Given the description of an element on the screen output the (x, y) to click on. 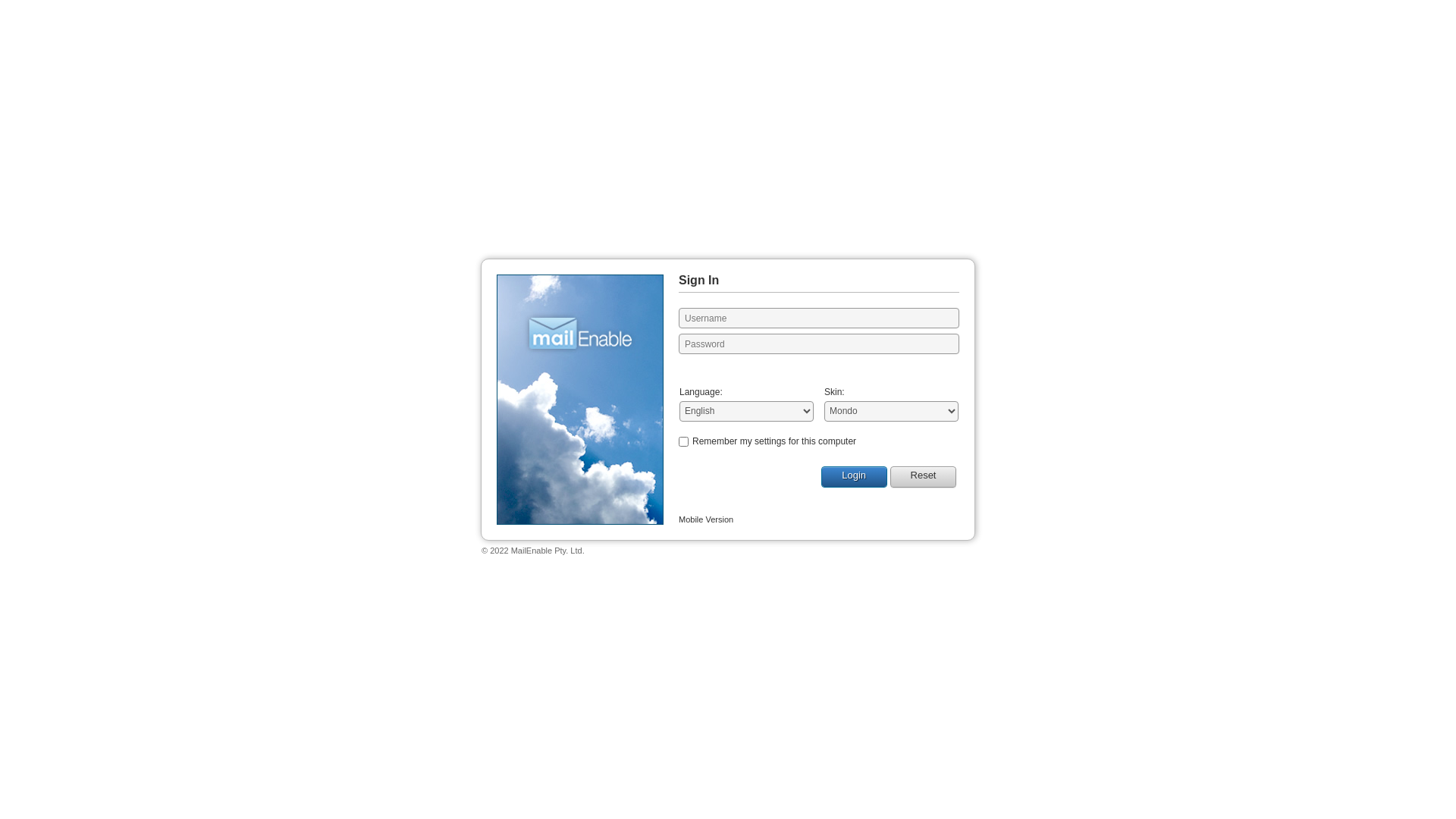
Login Element type: text (854, 476)
Mobile Version Element type: text (705, 519)
MailEnable Pty. Ltd. Element type: text (547, 550)
Reset Element type: text (923, 476)
